Given the description of an element on the screen output the (x, y) to click on. 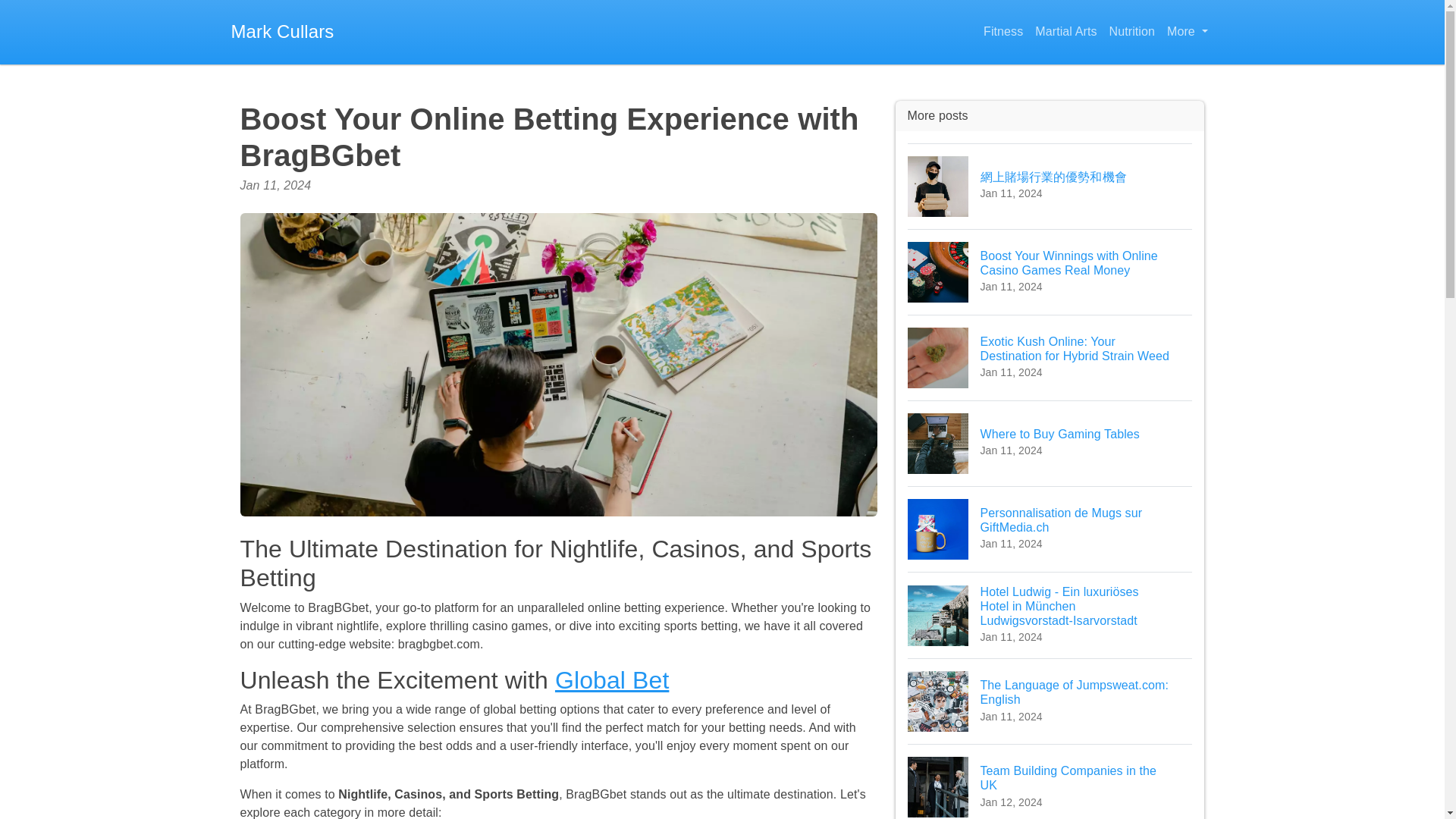
Nutrition (1131, 32)
Mark Cullars (281, 31)
Fitness (1002, 32)
Martial Arts (1065, 32)
More (1049, 700)
Global Bet (1049, 528)
